Given the description of an element on the screen output the (x, y) to click on. 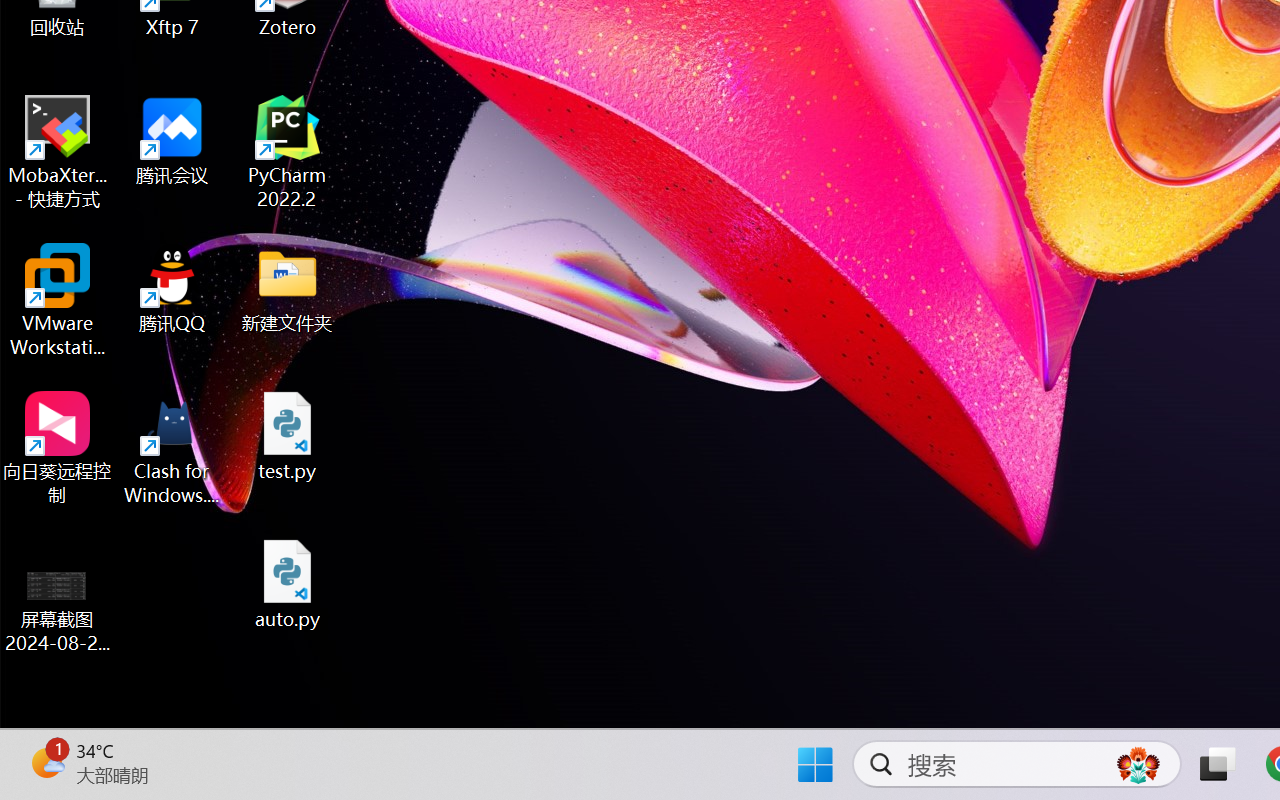
VMware Workstation Pro (57, 300)
test.py (287, 436)
PyCharm 2022.2 (287, 152)
